Given the description of an element on the screen output the (x, y) to click on. 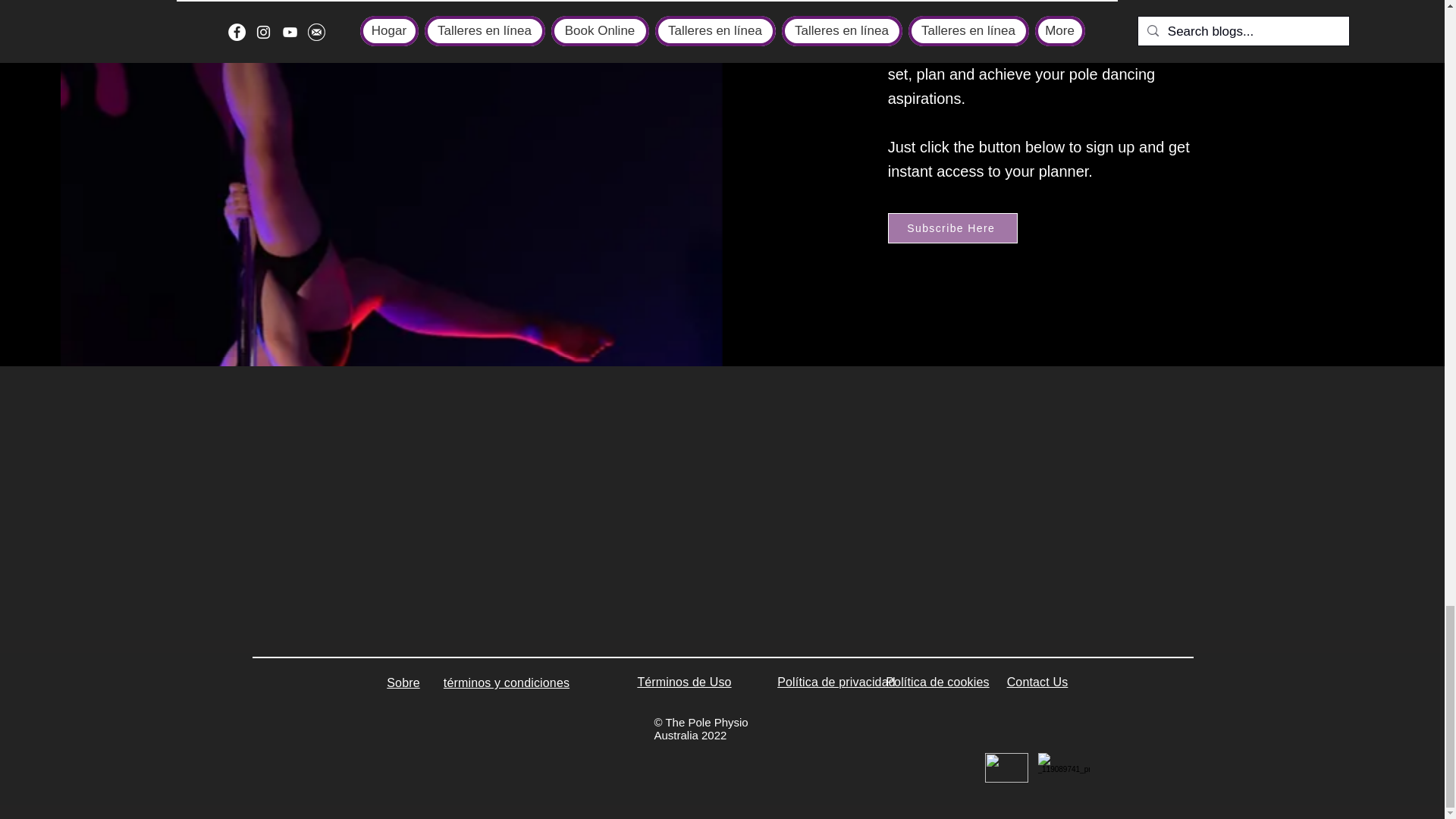
Sobre (403, 682)
Subscribe Here (952, 227)
